Given the description of an element on the screen output the (x, y) to click on. 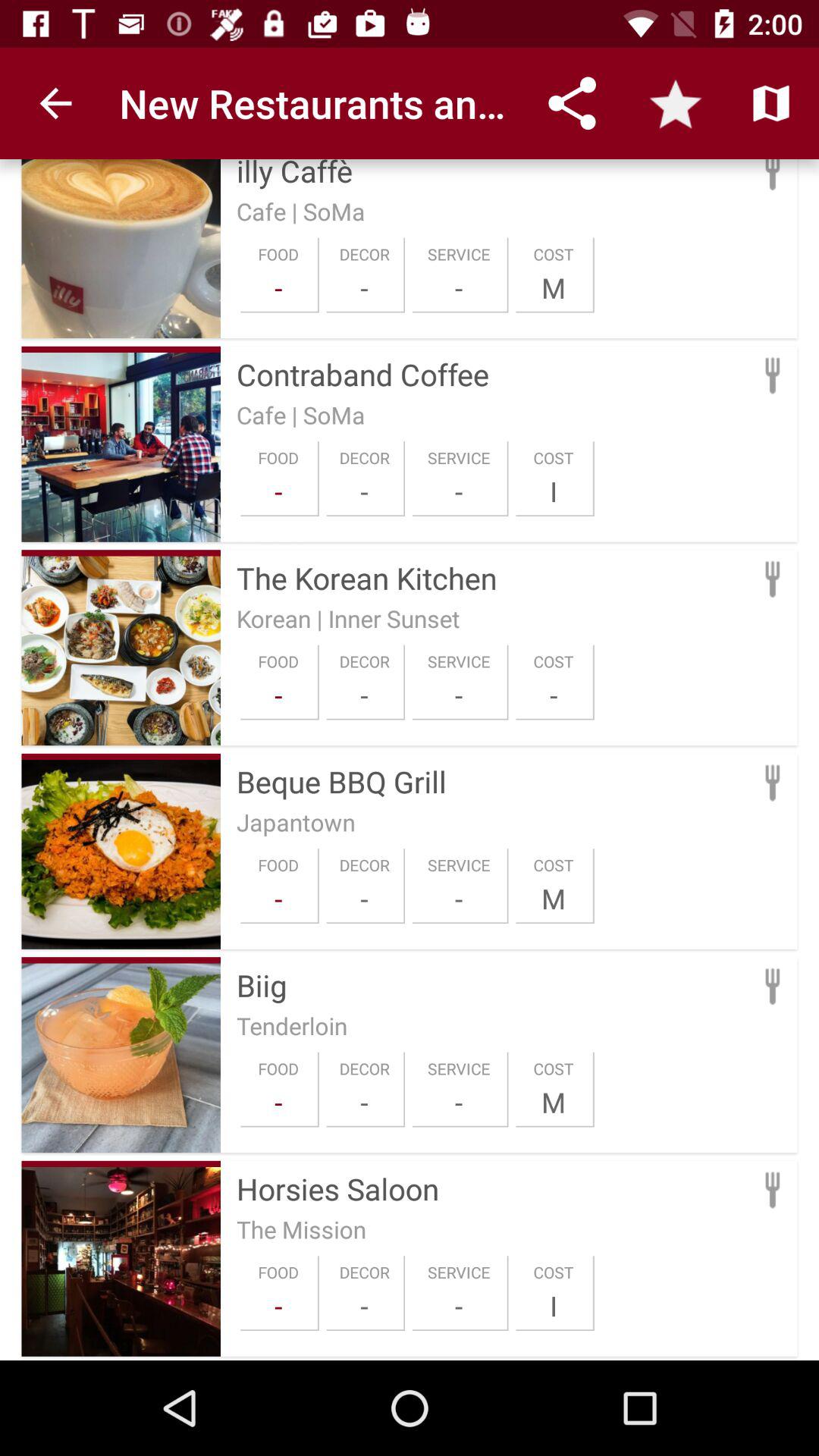
select app next to new restaurants and app (55, 103)
